Given the description of an element on the screen output the (x, y) to click on. 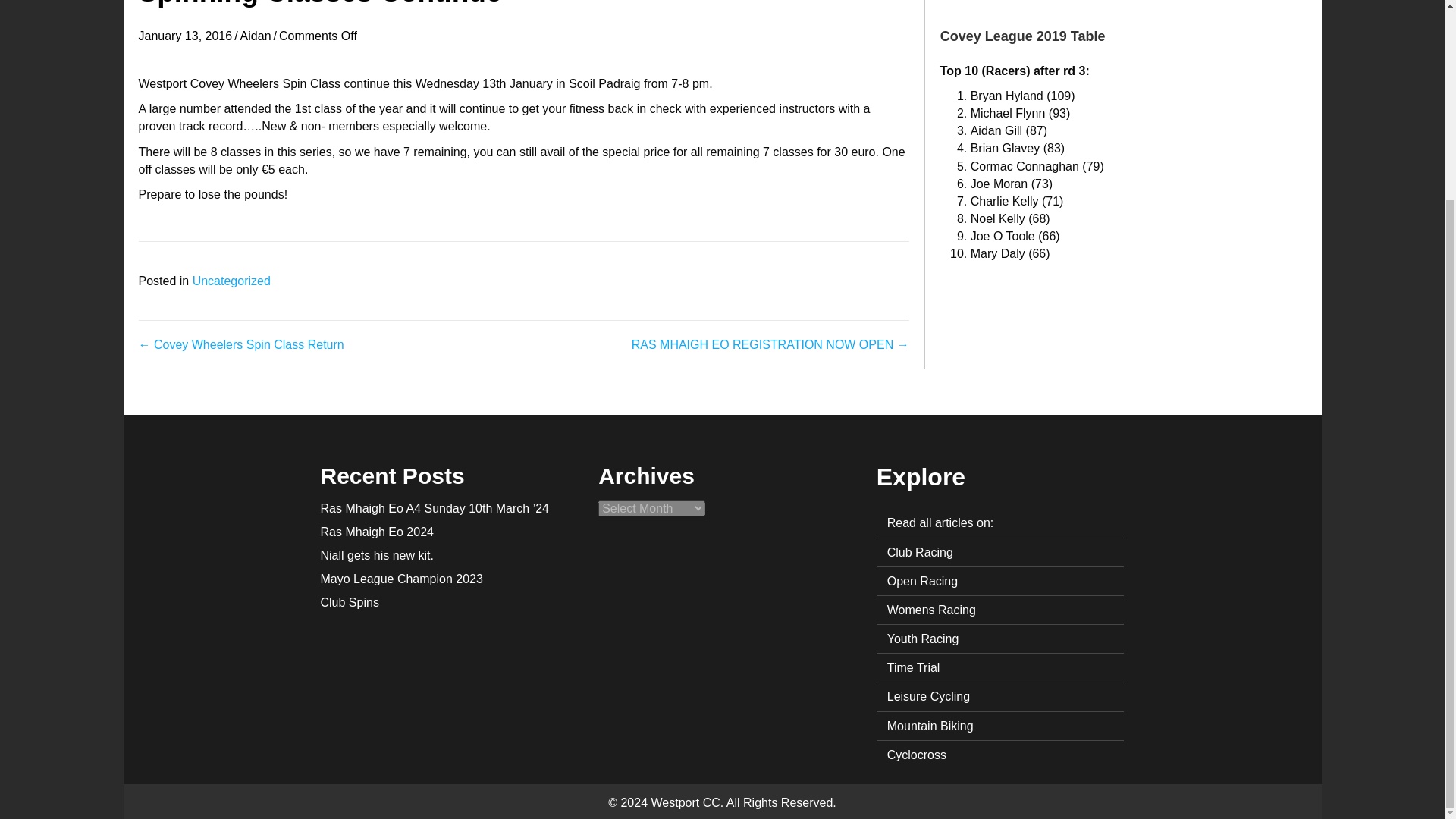
Club Racing (1000, 552)
Ras Mhaigh Eo 2024 (376, 531)
Aidan (255, 35)
Uncategorized (231, 280)
Read all articles on: (1000, 522)
Mayo League Champion 2023 (400, 578)
Niall gets his new kit. (376, 554)
Club Spins (349, 602)
